Given the description of an element on the screen output the (x, y) to click on. 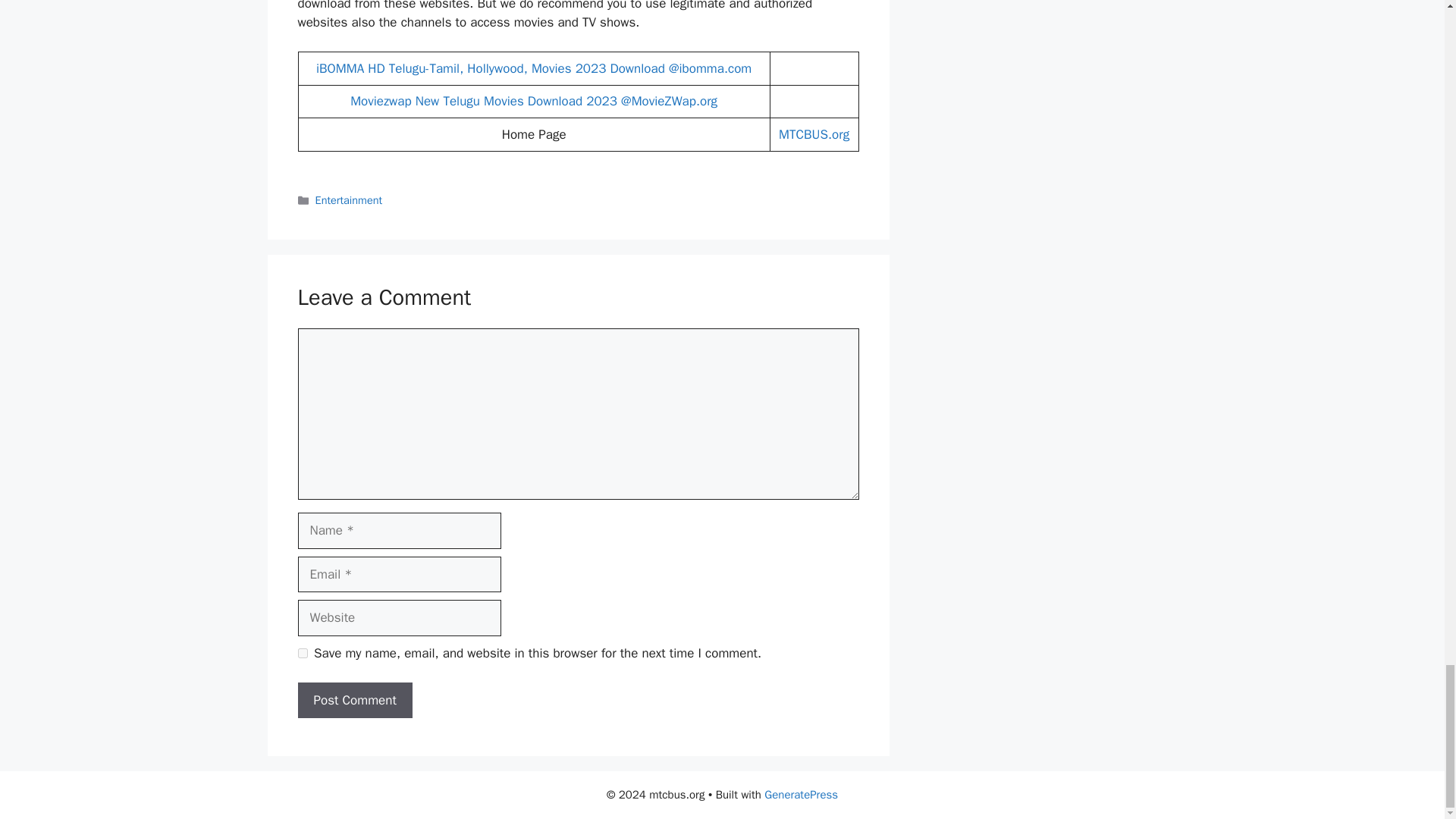
Entertainment (348, 200)
Post Comment (354, 700)
MTCBUS.org (813, 134)
yes (302, 653)
